Given the description of an element on the screen output the (x, y) to click on. 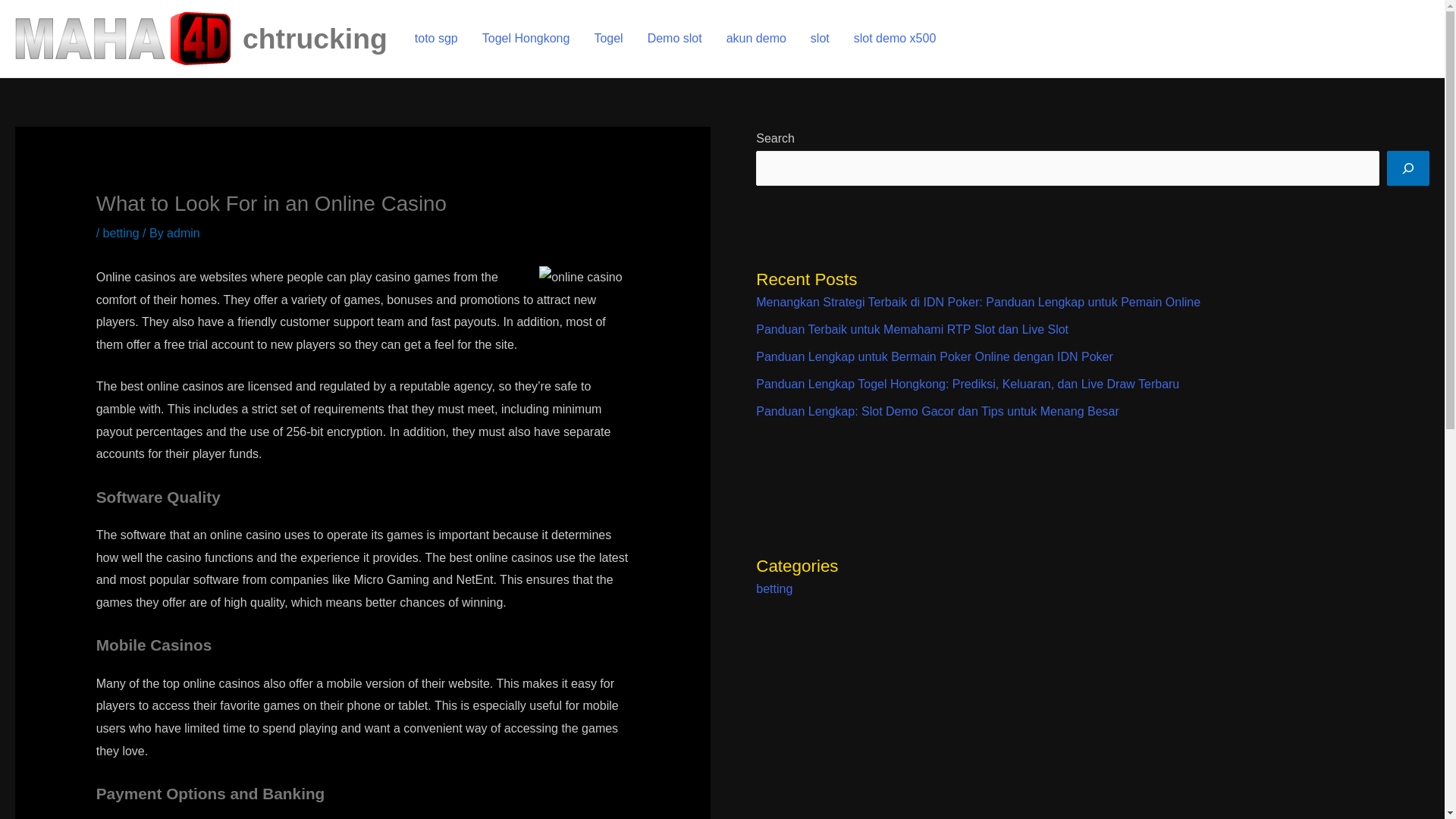
Panduan Terbaik untuk Memahami RTP Slot dan Live Slot (911, 328)
View all posts by admin (183, 232)
Togel Hongkong (526, 38)
slot demo x500 (895, 38)
slot (819, 38)
Togel (607, 38)
Panduan Lengkap: Slot Demo Gacor dan Tips untuk Menang Besar (937, 410)
toto sgp (436, 38)
akun demo (755, 38)
